Given the description of an element on the screen output the (x, y) to click on. 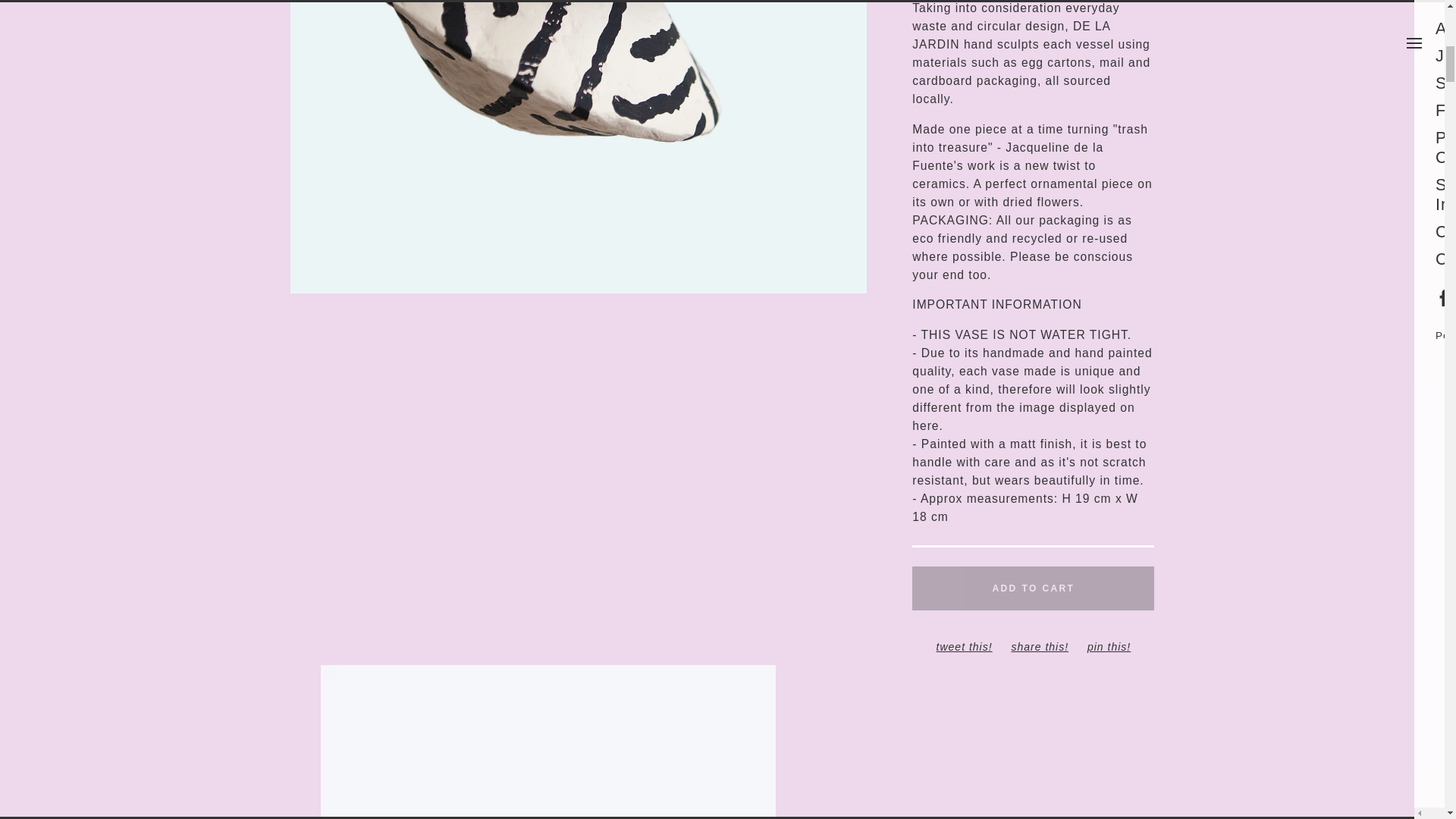
tweet this! (964, 646)
pin this! (1109, 646)
ADD TO CART (1033, 588)
next (722, 148)
prev (433, 148)
share this! (1039, 646)
